Given the description of an element on the screen output the (x, y) to click on. 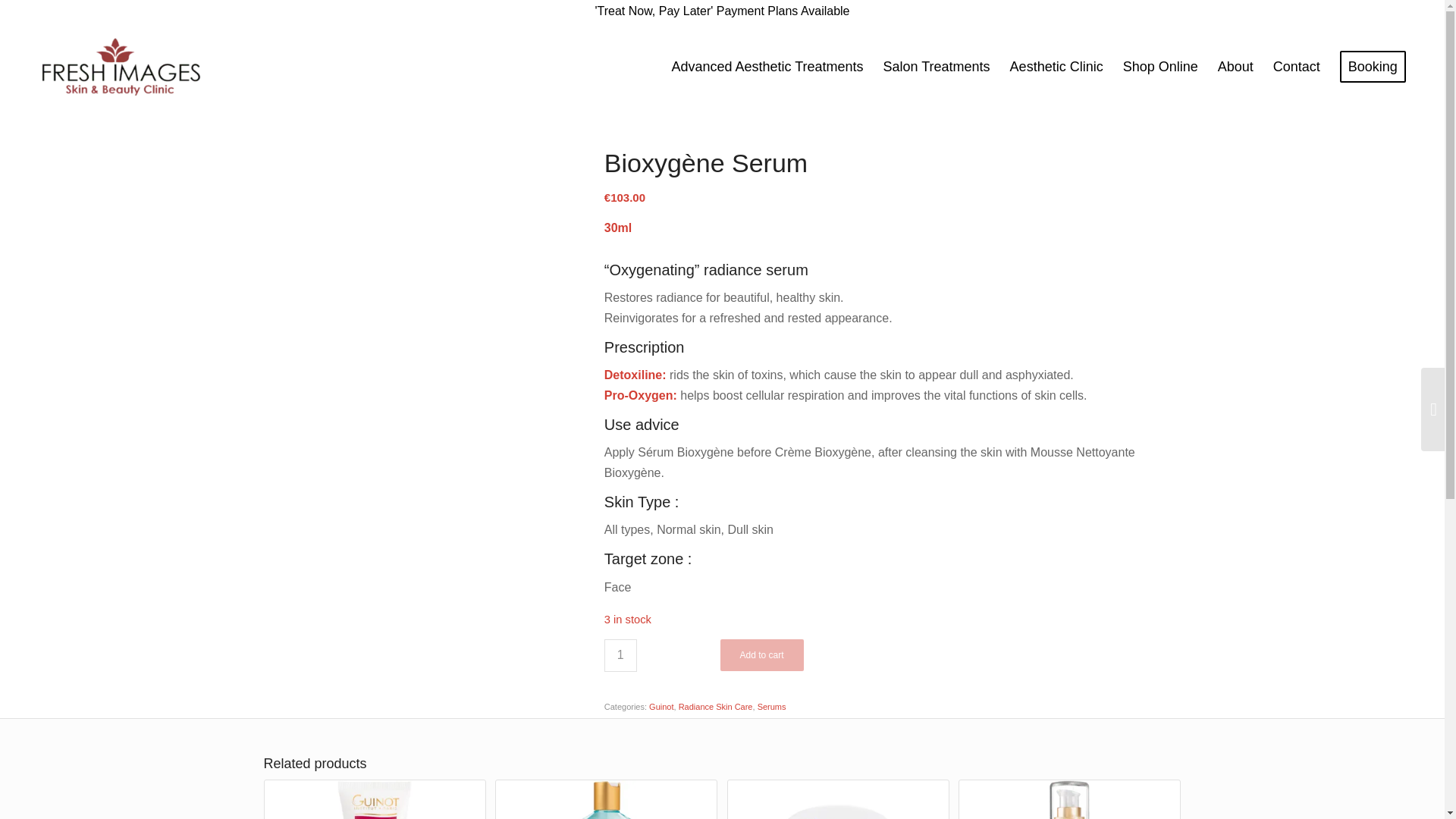
Radiance Skin Care (715, 706)
Serums (771, 706)
Booking (1372, 66)
Shop Online (1160, 66)
Aesthetic Clinic (1056, 66)
'Treat Now, Pay Later' Payment Plans Available (721, 10)
Add to cart (761, 654)
1 (620, 655)
Nutrition Confort Cream (373, 799)
Advanced Aesthetic Treatments (766, 66)
